Given the description of an element on the screen output the (x, y) to click on. 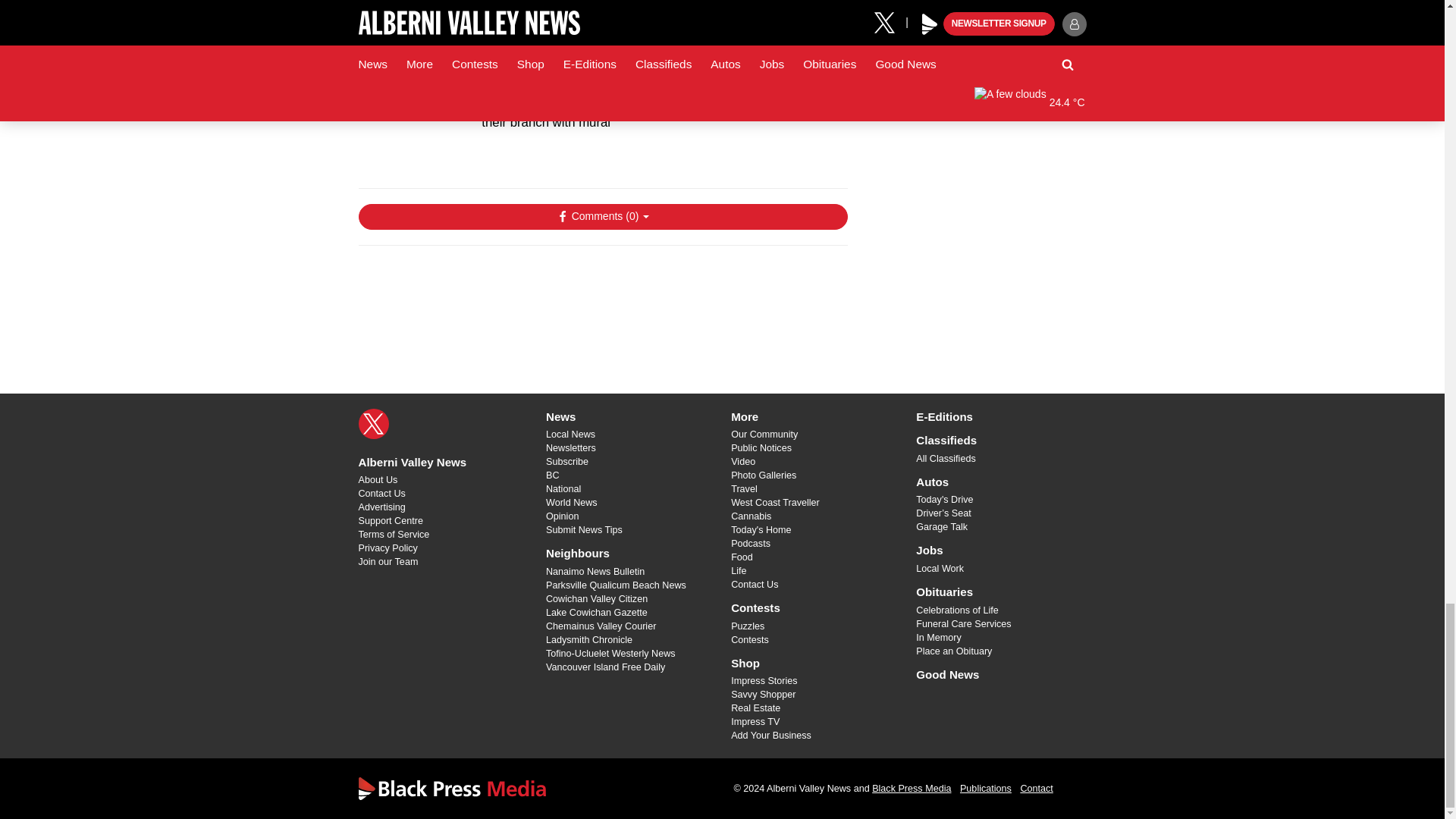
X (373, 423)
Show Comments (602, 216)
